Given the description of an element on the screen output the (x, y) to click on. 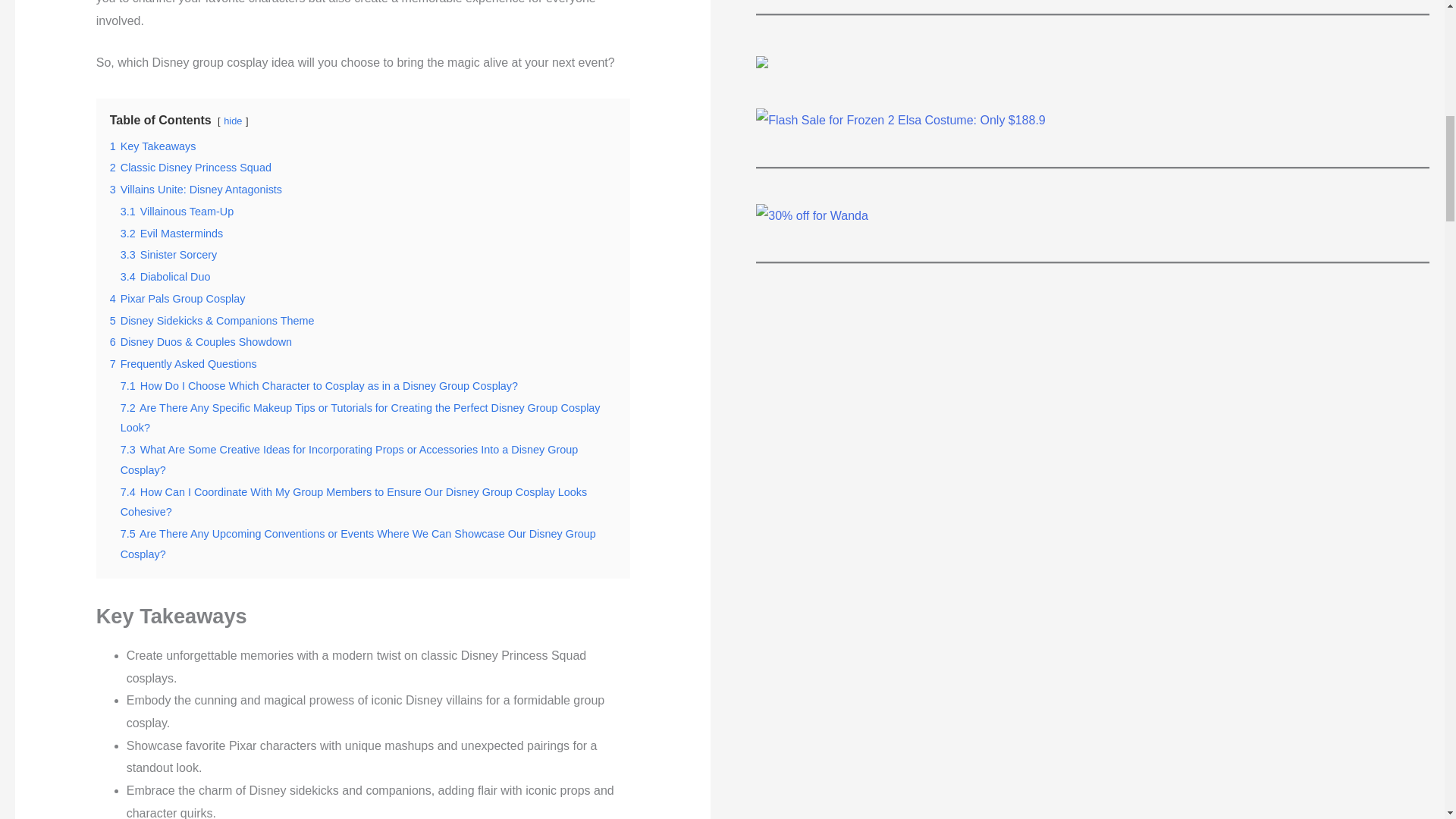
1 Key Takeaways (153, 146)
7 Frequently Asked Questions (183, 363)
3.3 Sinister Sorcery (168, 254)
3.4 Diabolical Duo (165, 276)
3 Villains Unite: Disney Antagonists (196, 189)
4 Pixar Pals Group Cosplay (178, 298)
hide (232, 120)
2 Classic Disney Princess Squad (190, 167)
